Given the description of an element on the screen output the (x, y) to click on. 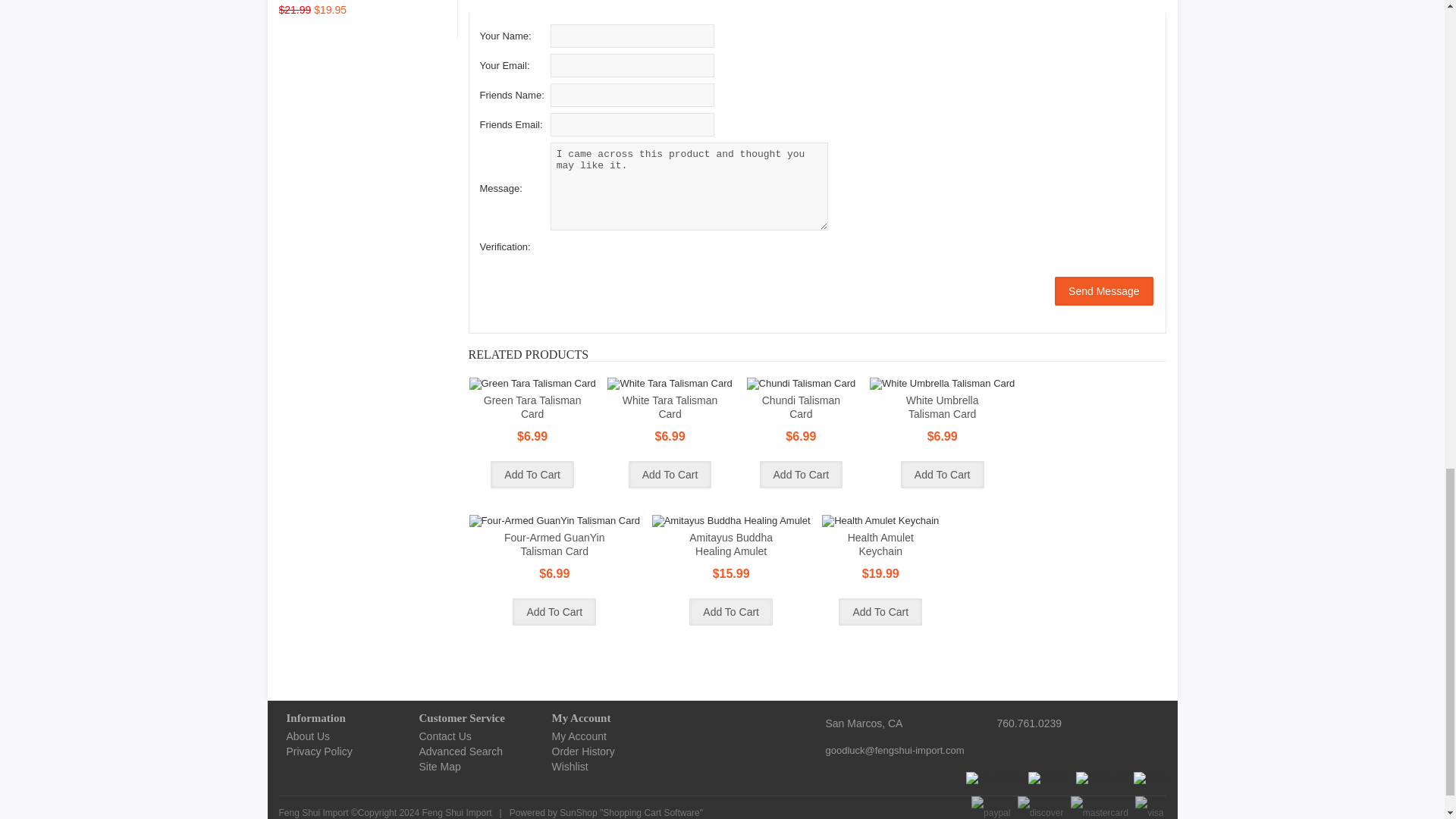
Ecommerce Shopping Cart Software (650, 812)
Pinterest (1100, 777)
Add To Cart (801, 474)
Three-Harmony-Animal Amulet Keychain (301, 0)
RSS (1150, 777)
Add To Cart (730, 611)
Add To Cart (553, 611)
Add To Cart (531, 474)
Twitter (1047, 777)
Add To Cart (669, 474)
